Given the description of an element on the screen output the (x, y) to click on. 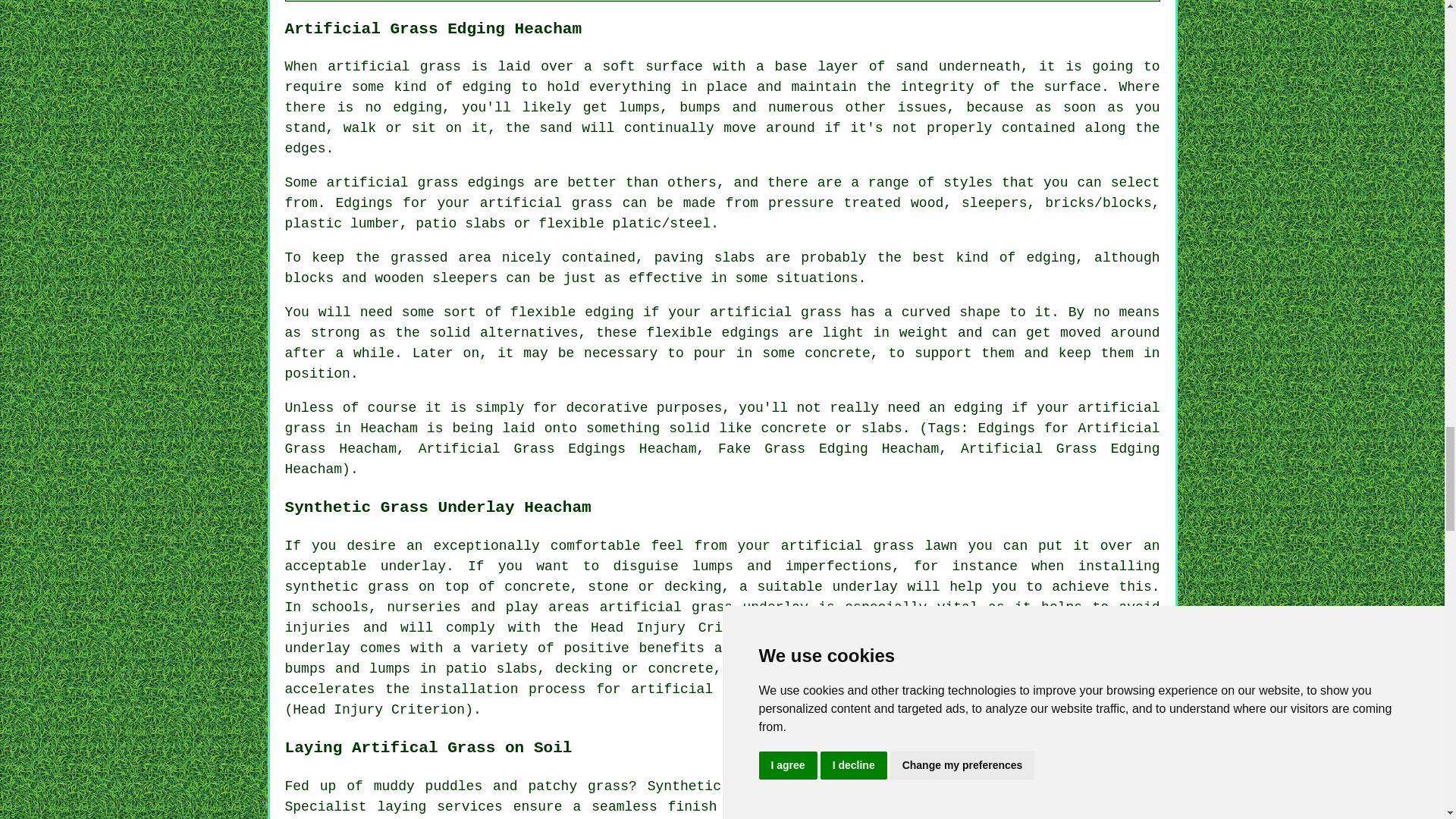
services (469, 806)
